Given the description of an element on the screen output the (x, y) to click on. 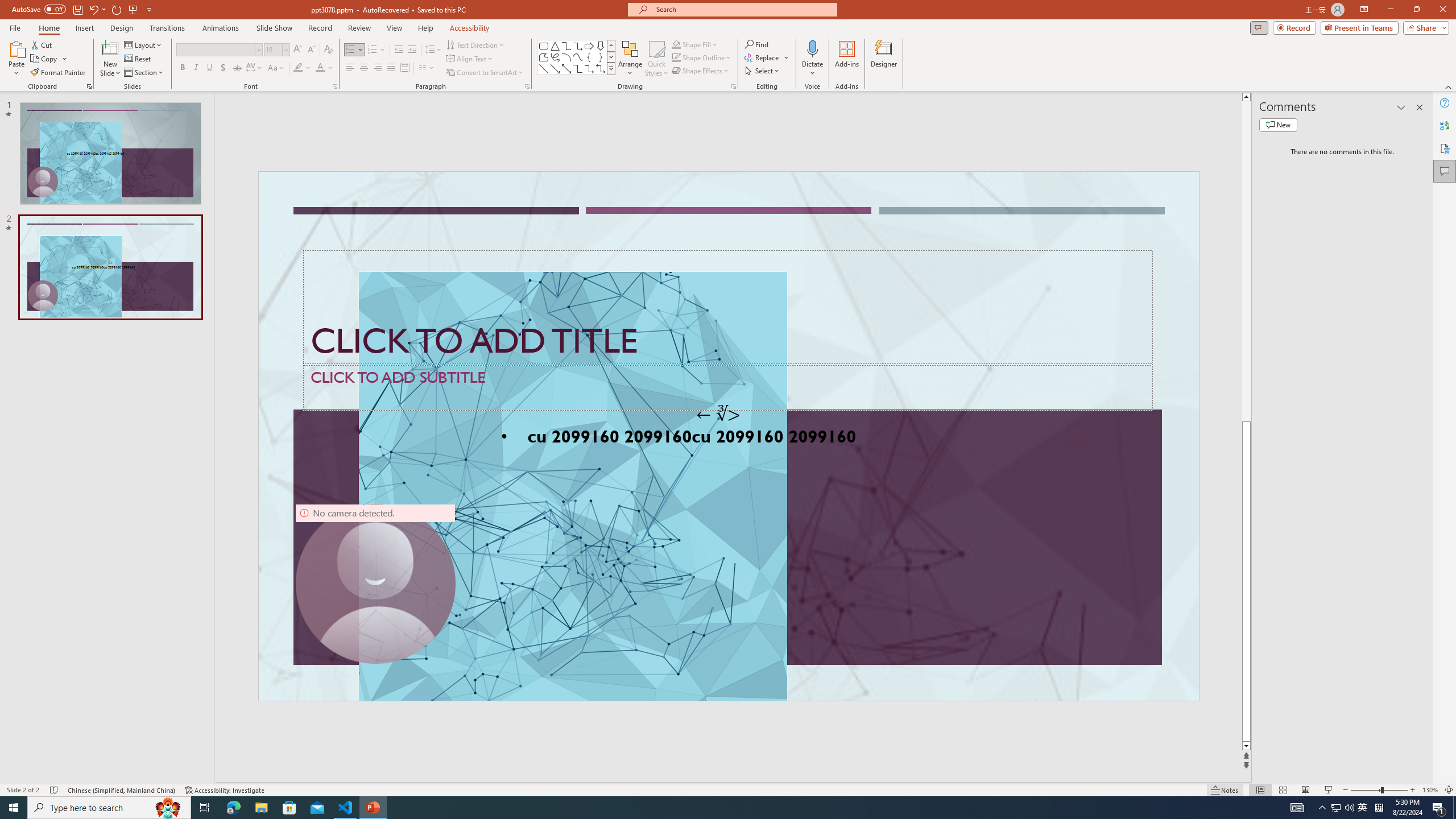
TextBox 7 (718, 414)
